Given the description of an element on the screen output the (x, y) to click on. 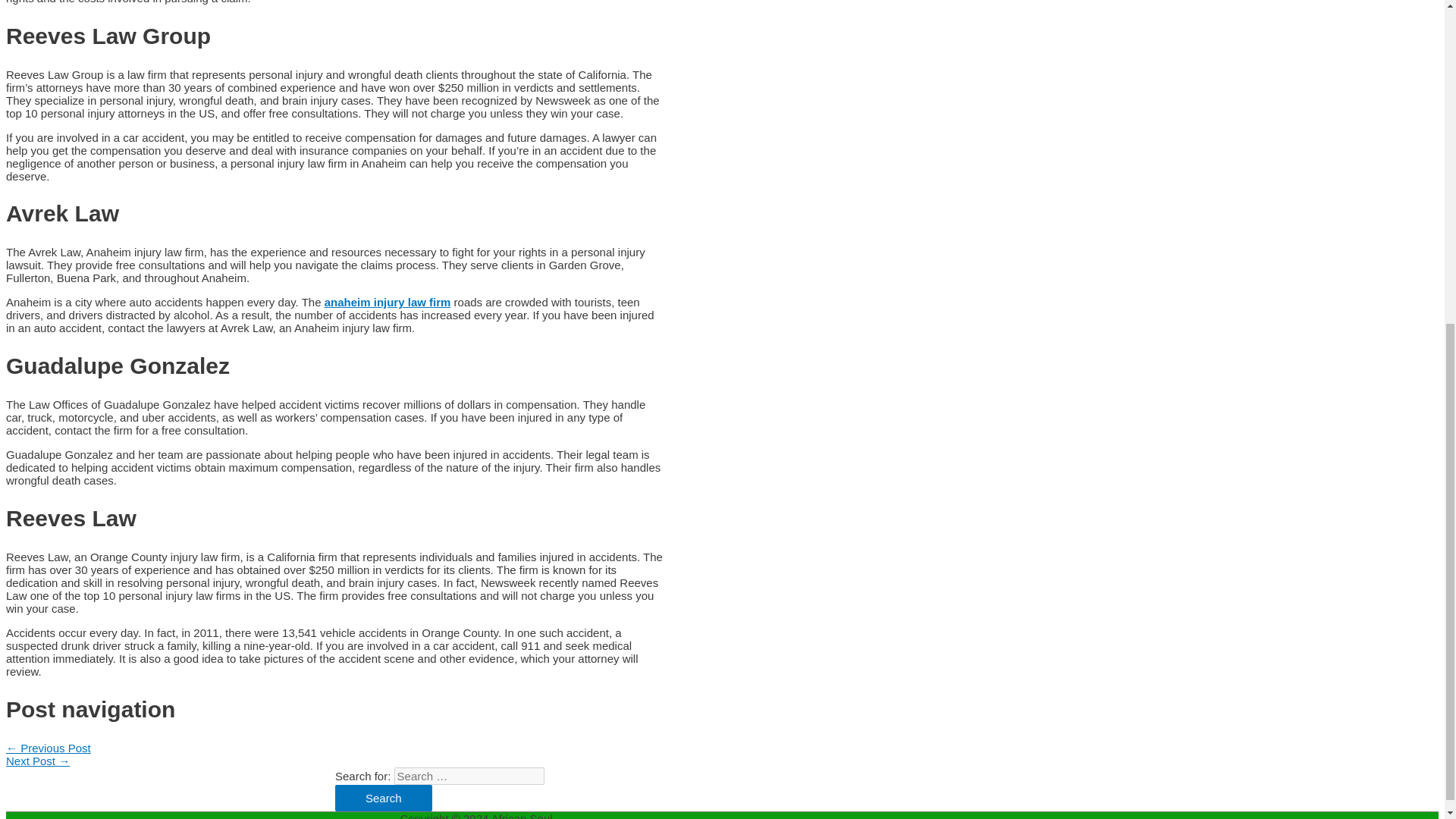
anaheim injury law firm (387, 301)
Search (383, 797)
Search (383, 797)
Search (383, 797)
